Given the description of an element on the screen output the (x, y) to click on. 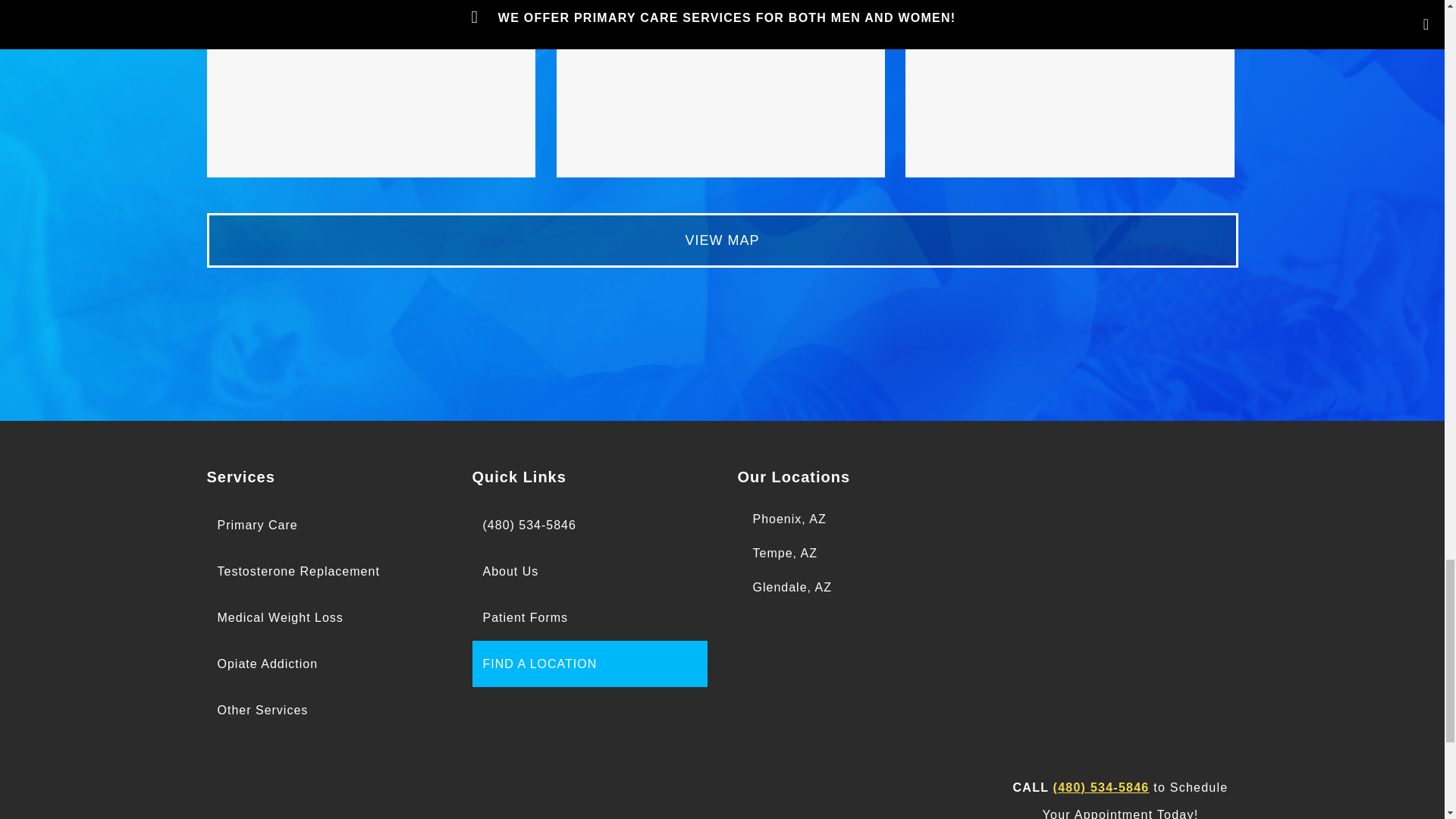
Tempe, AZ (370, 88)
Phoenix, AZ (1069, 88)
Glendale, AZ (720, 88)
Glendale, AZ (791, 586)
Tempe, AZ (784, 553)
Phoenix, AZ (788, 518)
